Given the description of an element on the screen output the (x, y) to click on. 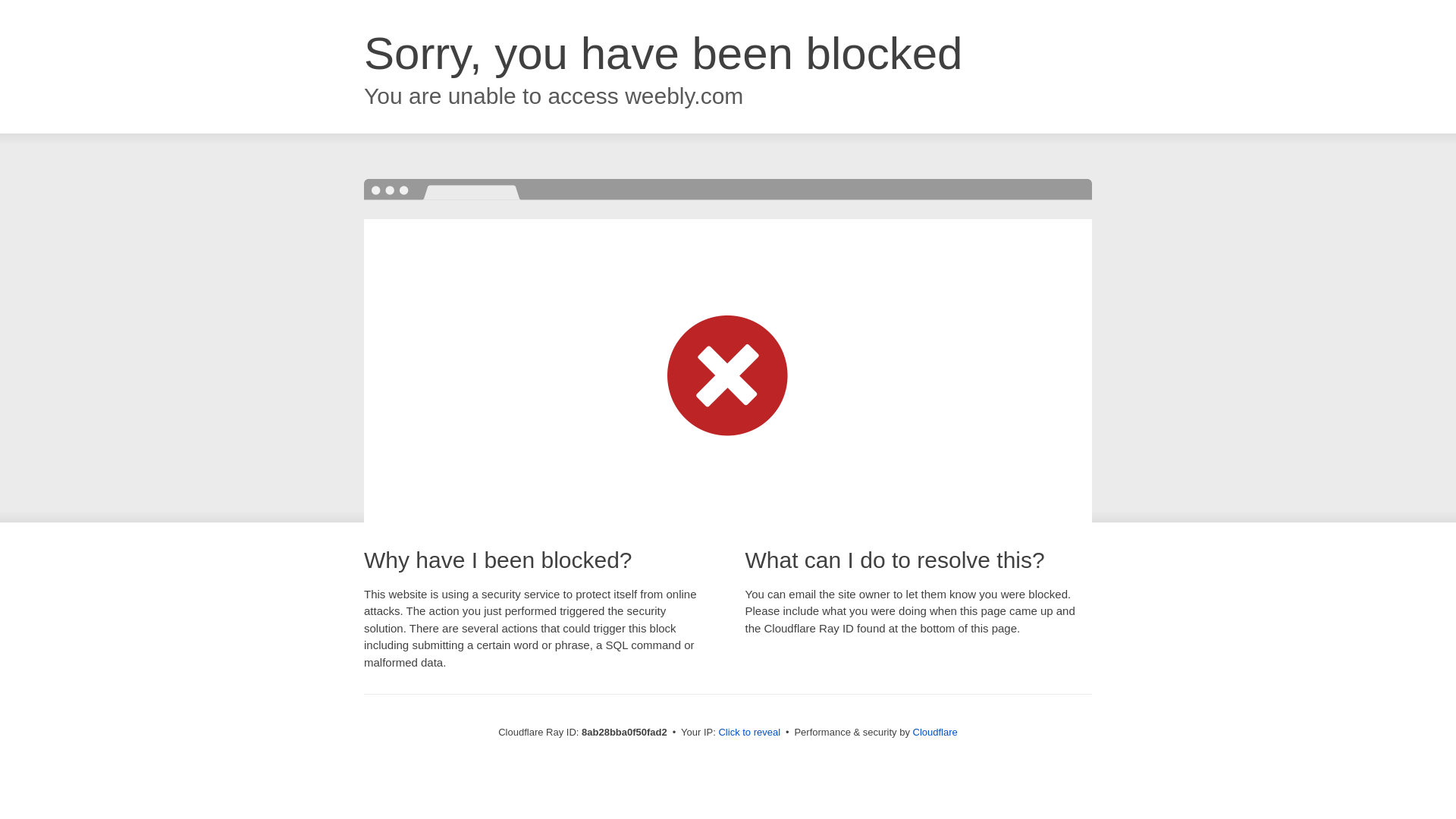
Cloudflare (935, 731)
Click to reveal (748, 732)
